Given the description of an element on the screen output the (x, y) to click on. 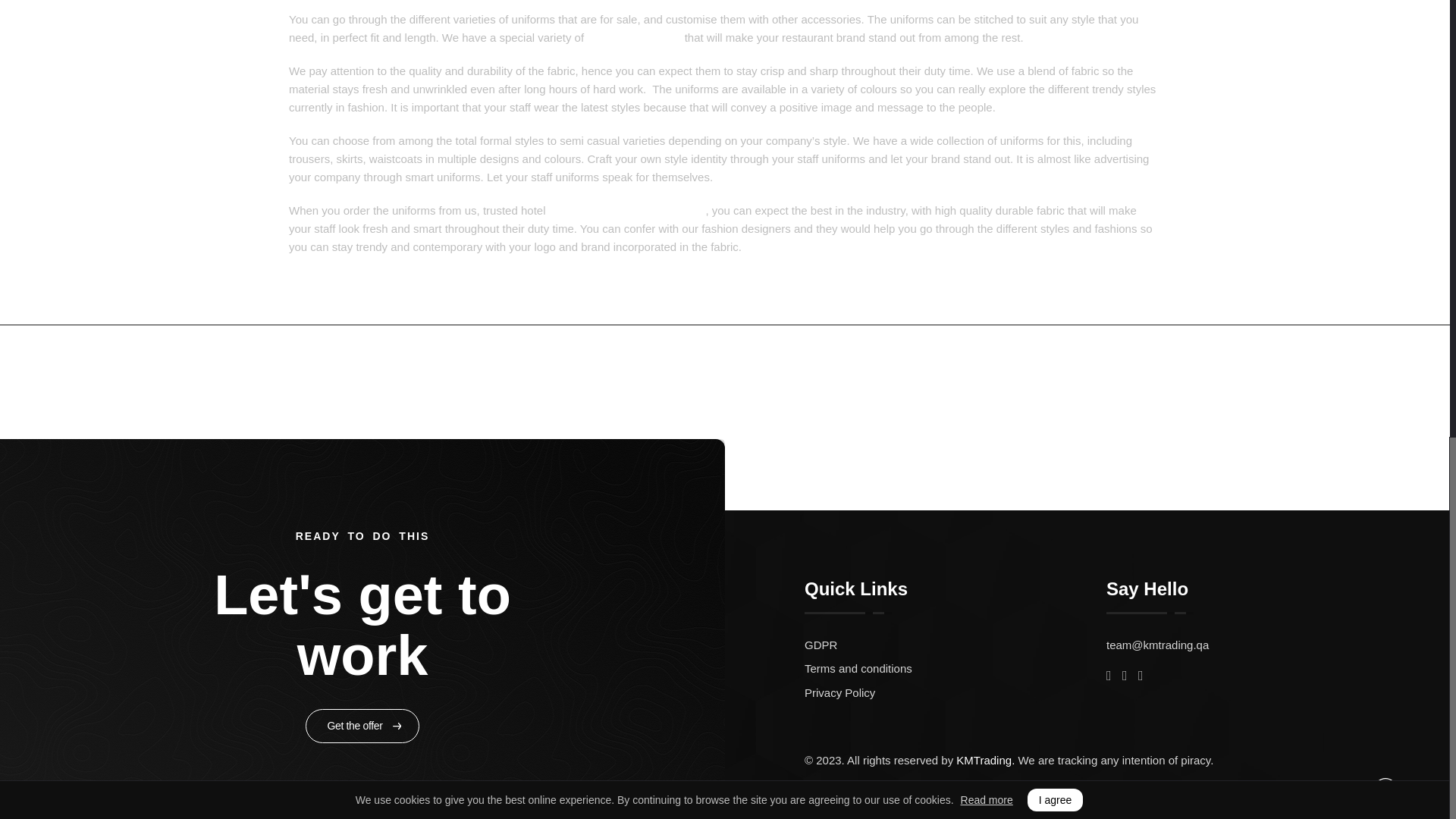
chef uniform Qatar (633, 37)
uniform manufacturers in Qatar (627, 210)
KMTrading. (985, 759)
Get the offer (362, 725)
Terms and conditions (955, 668)
Contact (1103, 380)
GDPR (955, 644)
Privacy Policy (955, 692)
